Given the description of an element on the screen output the (x, y) to click on. 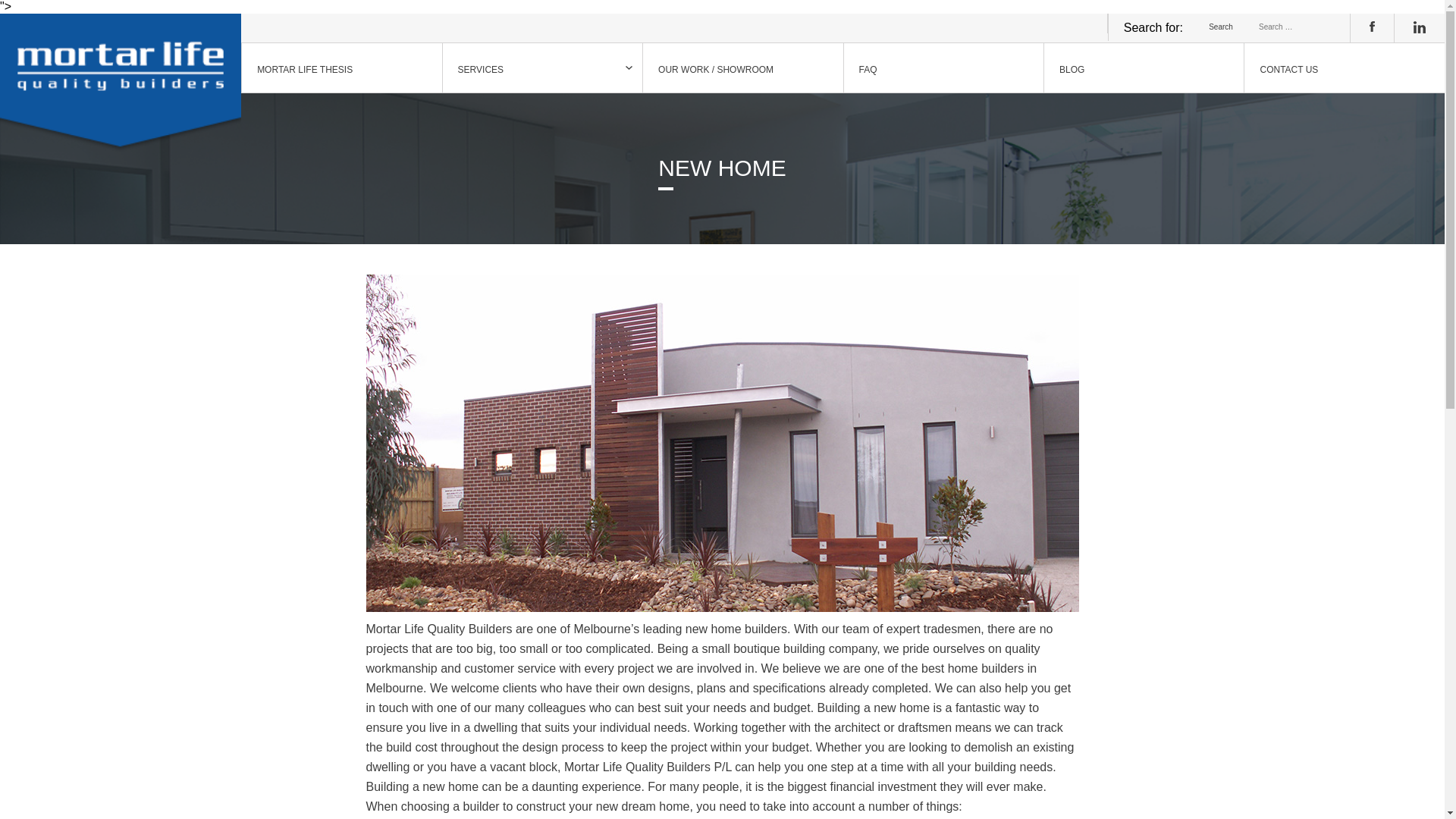
CONTACT US Element type: text (1343, 67)
  Element type: text (120, 67)
SERVICES Element type: text (542, 67)
BLOG Element type: text (1143, 67)
FAQ Element type: text (943, 67)
Search Element type: text (1220, 27)
OUR WORK / SHOWROOM Element type: text (742, 67)
MORTAR LIFE THESIS Element type: text (341, 67)
